Given the description of an element on the screen output the (x, y) to click on. 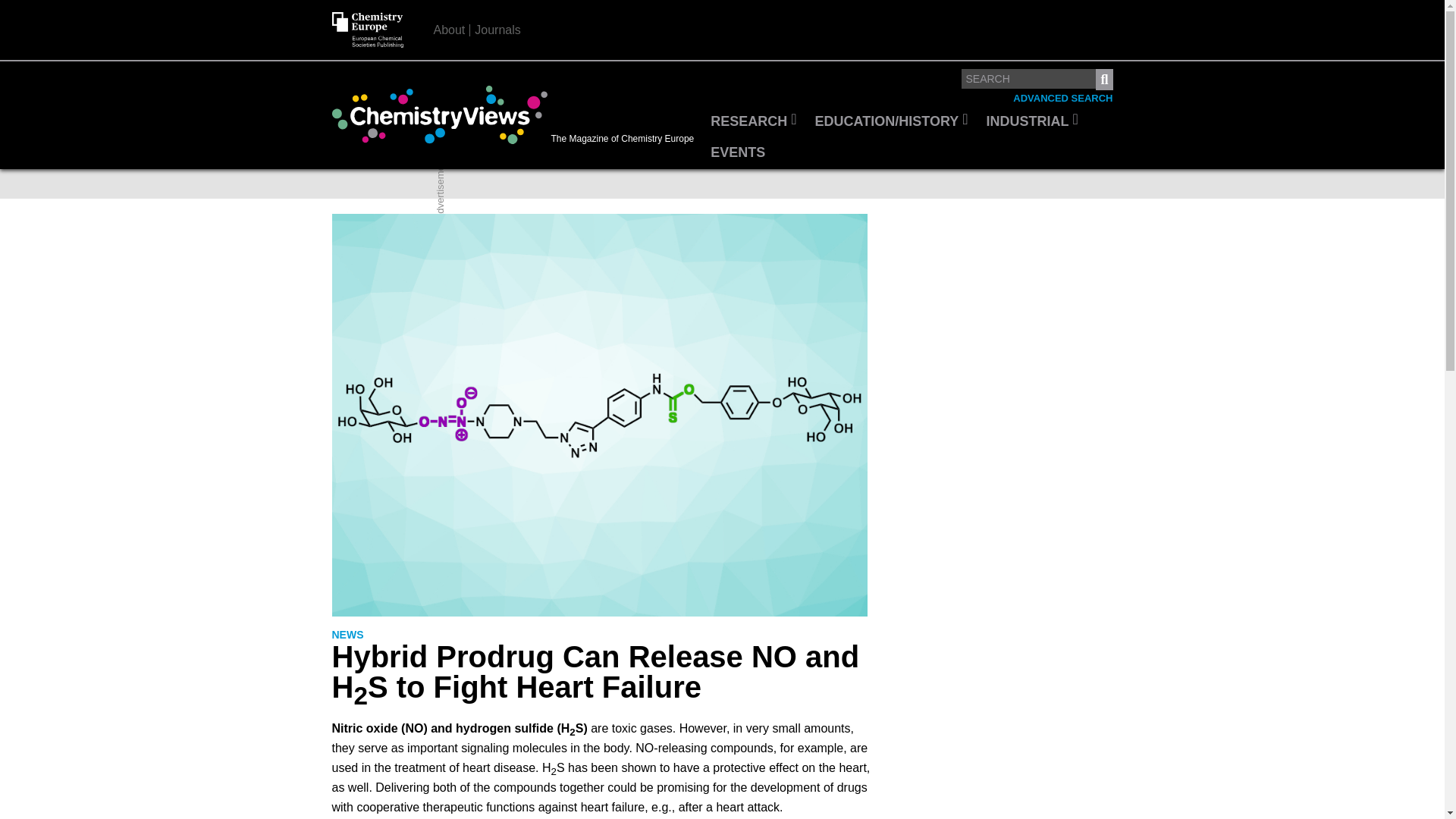
About (449, 29)
RESEARCH (753, 122)
NEWS (347, 634)
The Magazine of Chemistry Europe (516, 114)
ADVANCED SEARCH (1062, 98)
EVENTS (737, 152)
INDUSTRIAL (1031, 122)
Journals (496, 29)
